Given the description of an element on the screen output the (x, y) to click on. 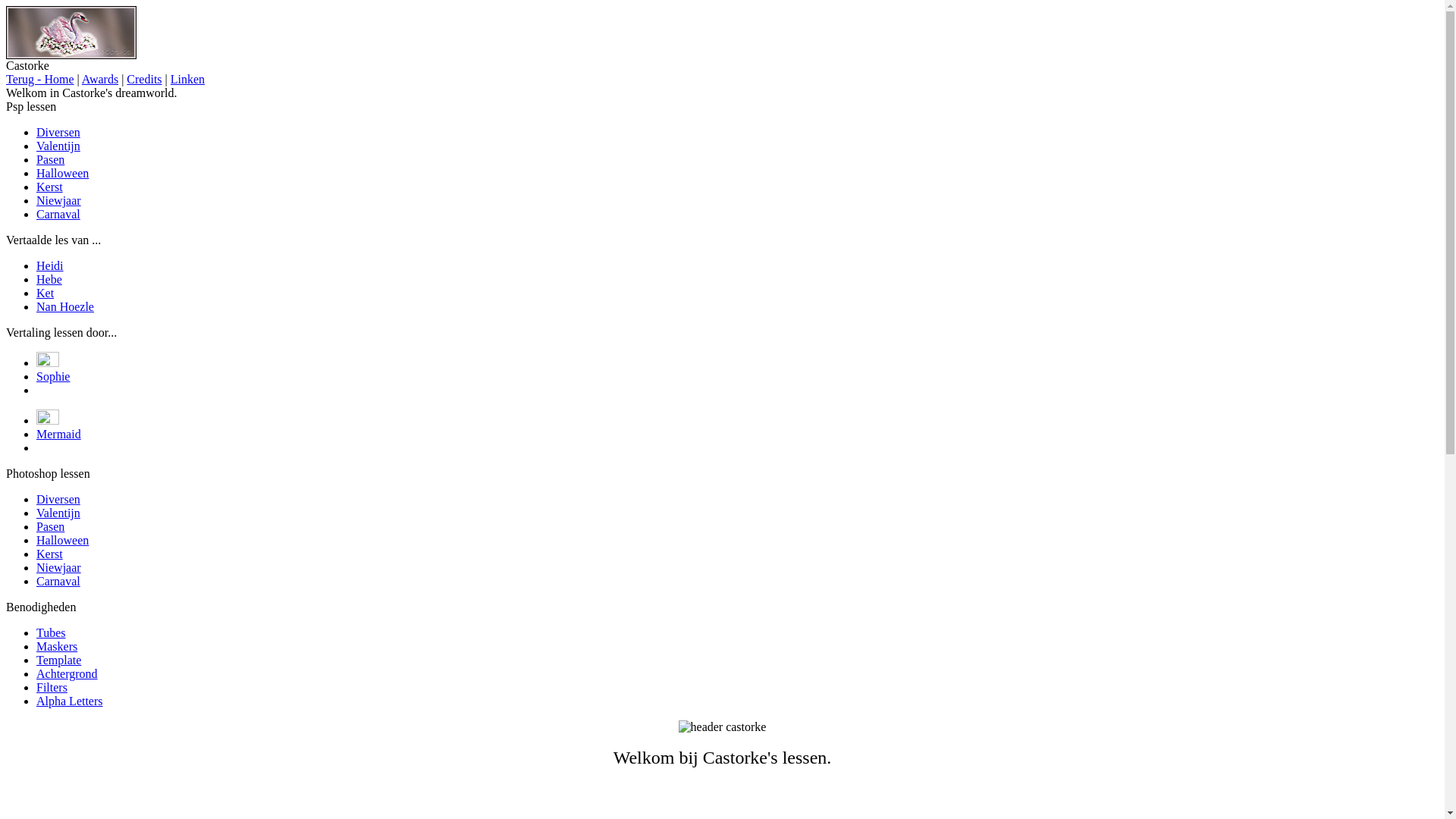
Terug - Home Element type: text (40, 78)
Linken Element type: text (187, 78)
Diversen Element type: text (58, 498)
Hebe Element type: text (49, 279)
Ket Element type: text (44, 292)
Kerst Element type: text (49, 553)
Diversen Element type: text (58, 131)
Halloween Element type: text (62, 539)
Pasen Element type: text (50, 526)
Valentijn Element type: text (58, 512)
Nan Hoezle Element type: text (65, 306)
Niewjaar Element type: text (58, 567)
Halloween Element type: text (62, 172)
Carnaval Element type: text (58, 213)
Maskers Element type: text (56, 646)
Filters Element type: text (51, 686)
Mermaid Element type: text (58, 433)
Niewjaar Element type: text (58, 200)
Carnaval Element type: text (58, 580)
Credits Element type: text (143, 78)
Pasen Element type: text (50, 159)
Kerst Element type: text (49, 186)
Alpha Letters Element type: text (69, 700)
Awards Element type: text (99, 78)
Sophie Element type: text (52, 376)
Heidi Element type: text (49, 265)
Achtergrond Element type: text (66, 673)
Valentijn Element type: text (58, 145)
Template Element type: text (58, 659)
Tubes Element type: text (50, 632)
